Given the description of an element on the screen output the (x, y) to click on. 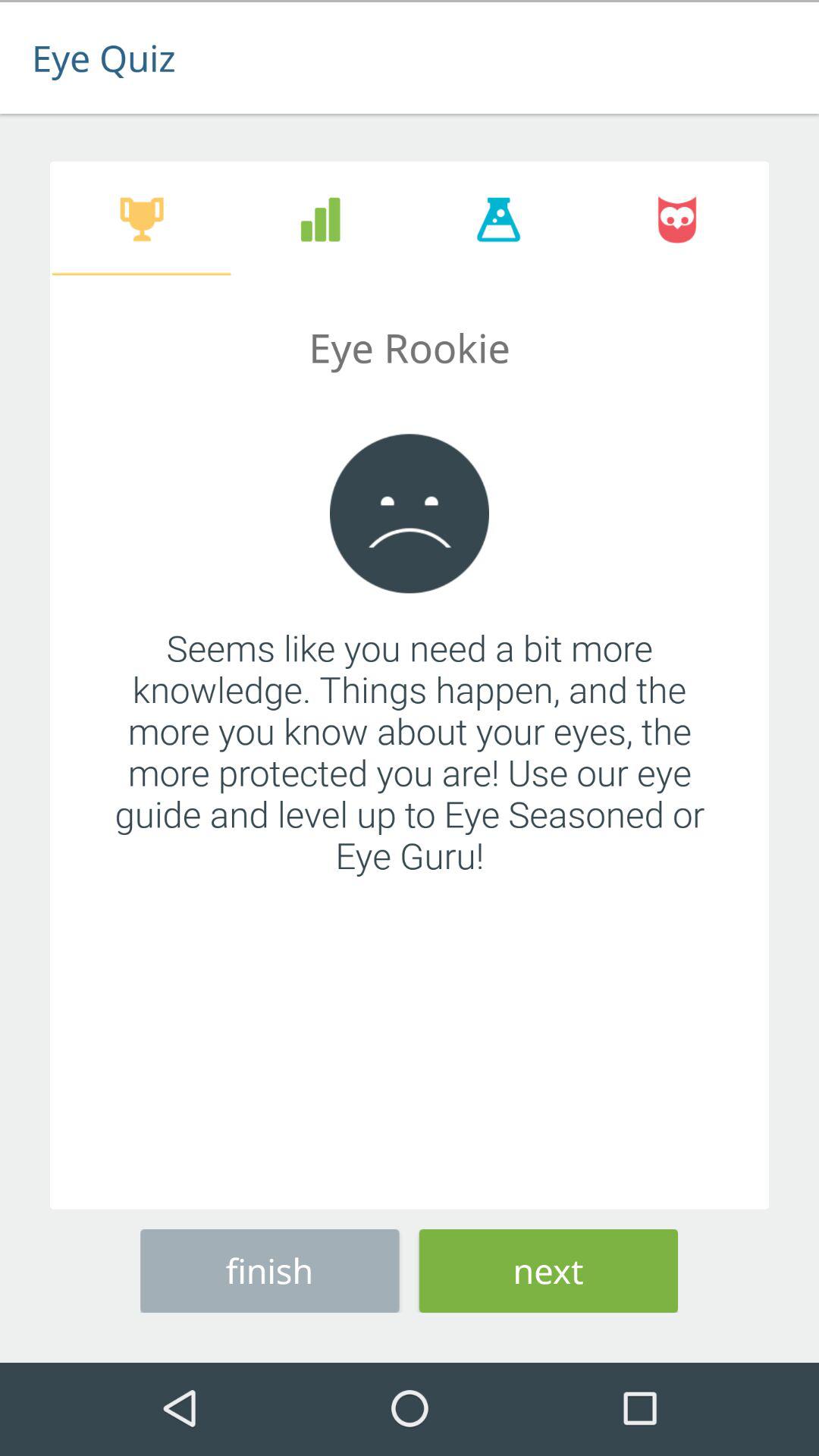
launch item at the bottom left corner (269, 1268)
